Given the description of an element on the screen output the (x, y) to click on. 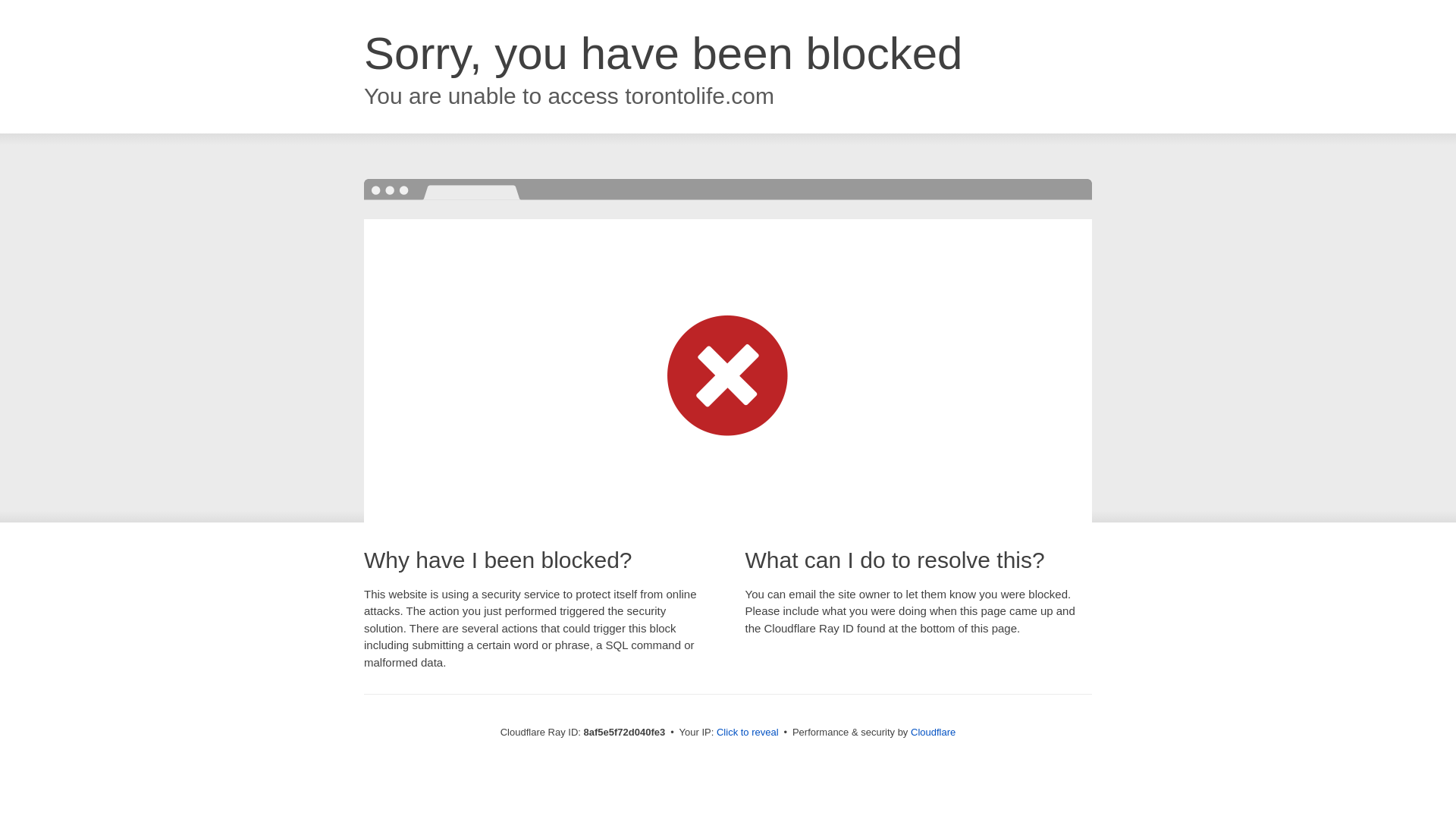
Click to reveal (747, 732)
Cloudflare (933, 731)
